Given the description of an element on the screen output the (x, y) to click on. 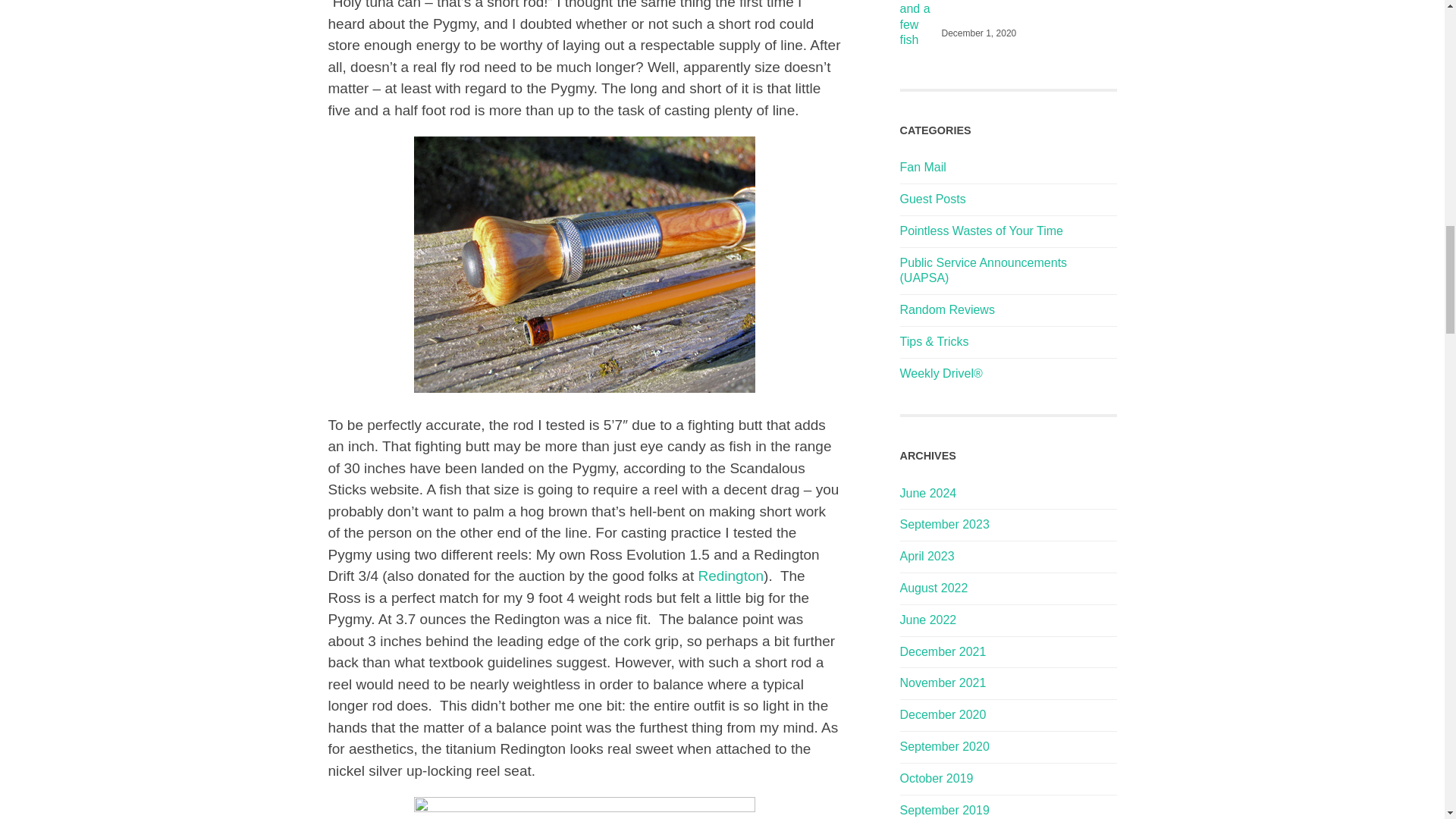
OLYMPUS DIGITAL CAMERA (584, 807)
Redington (729, 575)
OLYMPUS DIGITAL CAMERA (584, 264)
